Given the description of an element on the screen output the (x, y) to click on. 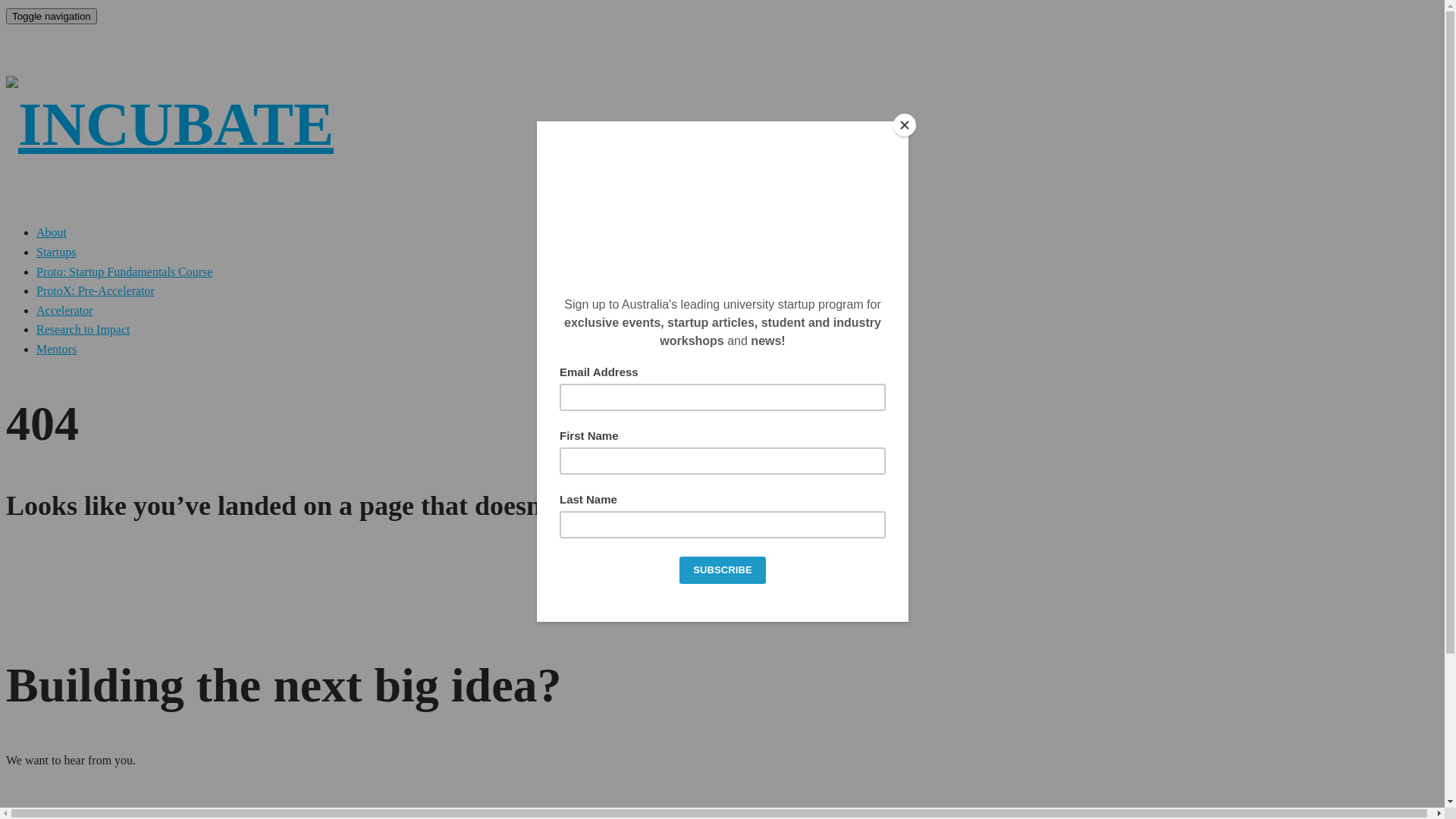
Research to Impact Element type: text (83, 329)
Toggle navigation Element type: text (51, 16)
Contact us Element type: text (751, 579)
ProtoX: Pre-Accelerator Element type: text (95, 290)
About Element type: text (51, 231)
Mentors Element type: text (56, 348)
Proto: Startup Fundamentals Course Element type: text (124, 271)
Startups Element type: text (55, 251)
Accelerator Element type: text (64, 310)
Go home Element type: text (699, 579)
